Given the description of an element on the screen output the (x, y) to click on. 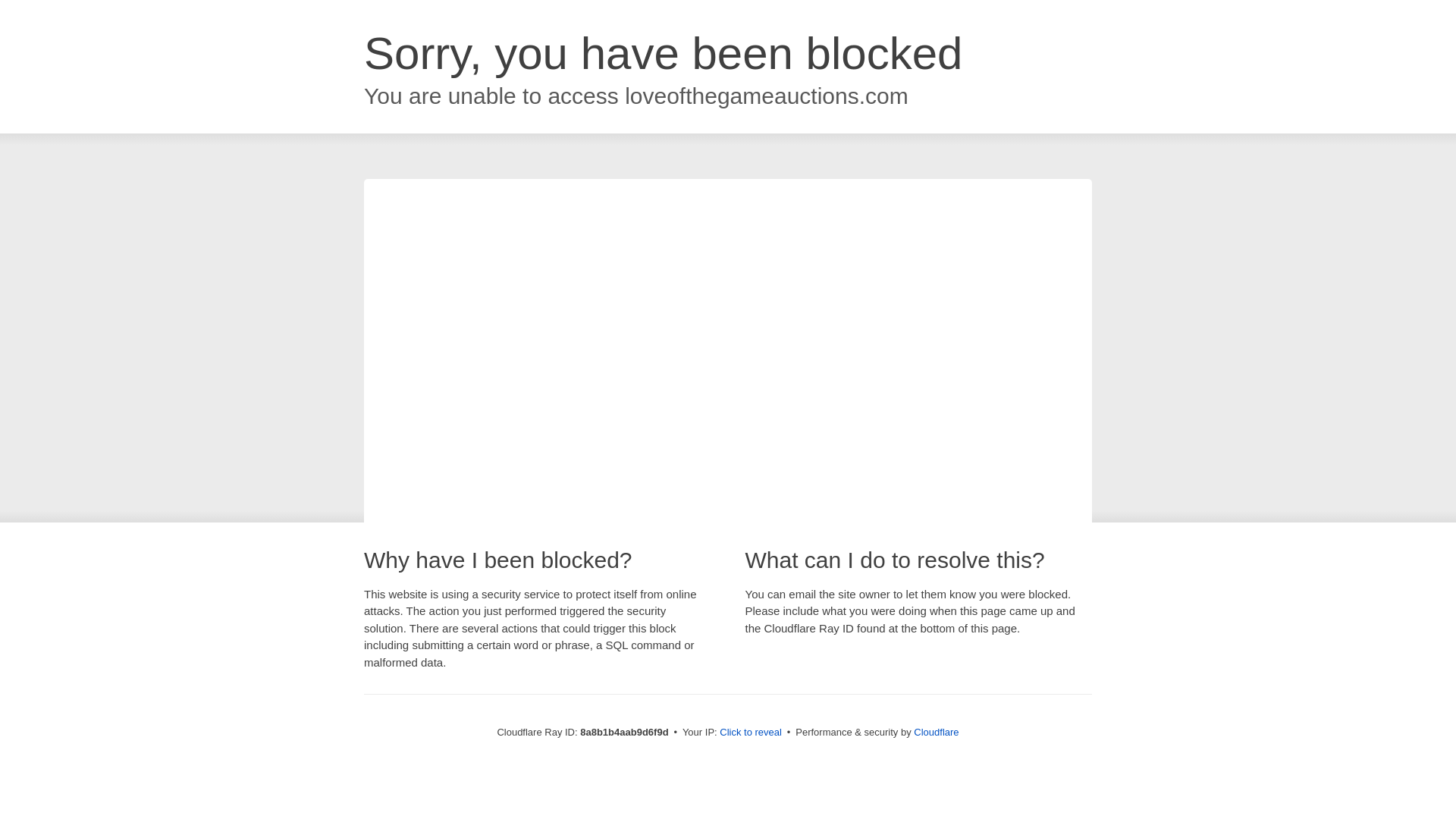
Cloudflare (936, 731)
Click to reveal (750, 732)
